Given the description of an element on the screen output the (x, y) to click on. 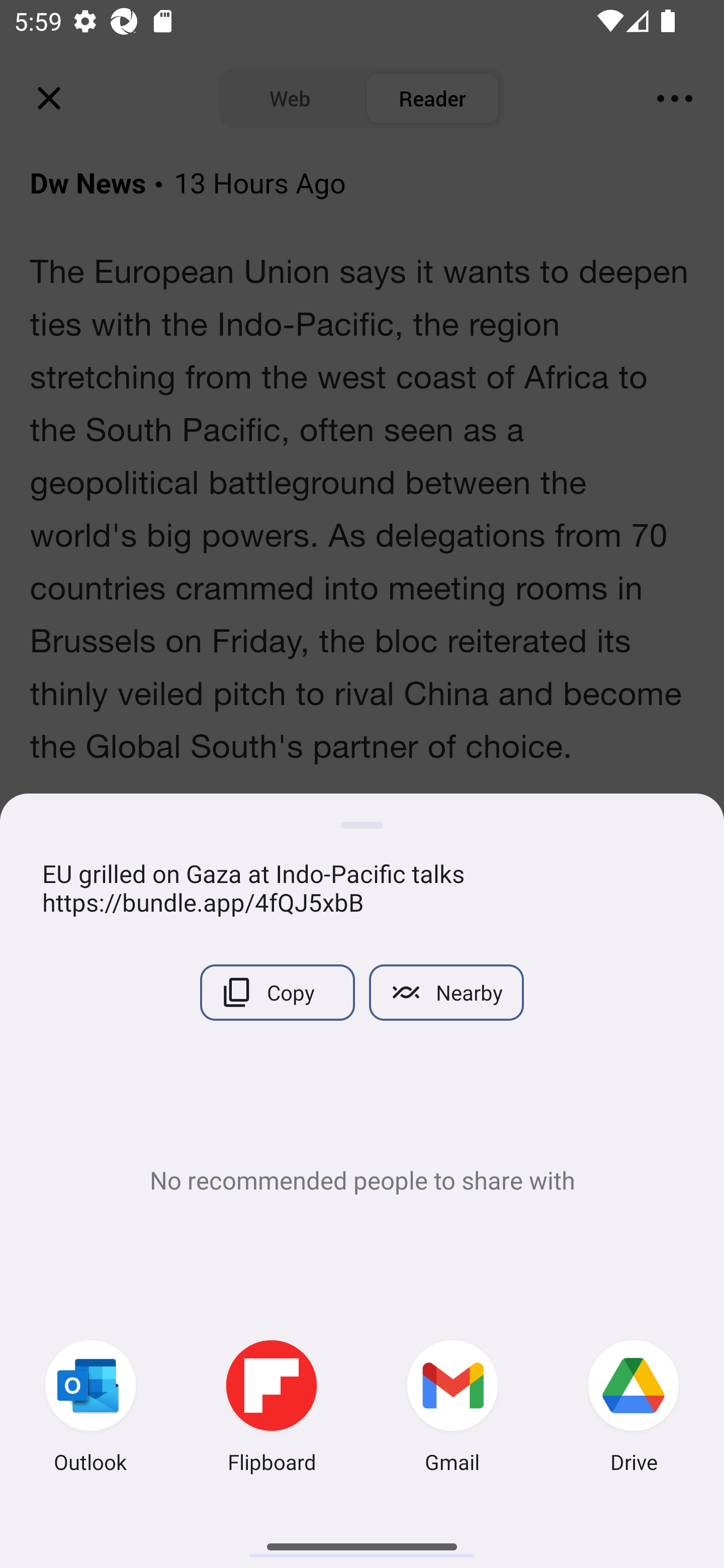
Copy (276, 992)
Nearby (446, 992)
Outlook (90, 1409)
Flipboard (271, 1409)
Gmail (452, 1409)
Drive (633, 1409)
